Given the description of an element on the screen output the (x, y) to click on. 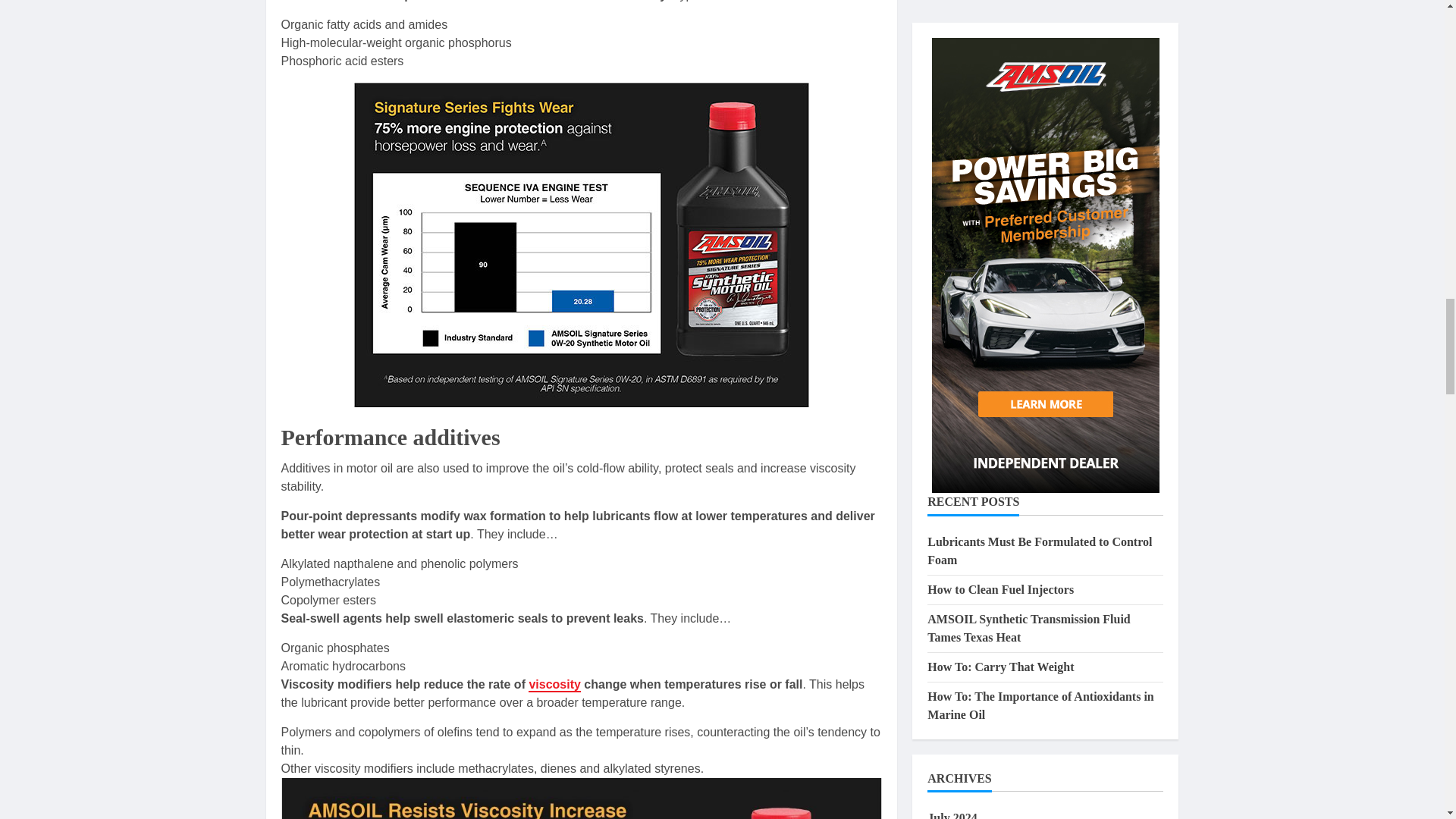
Understanding Oil Viscosity (553, 685)
